Given the description of an element on the screen output the (x, y) to click on. 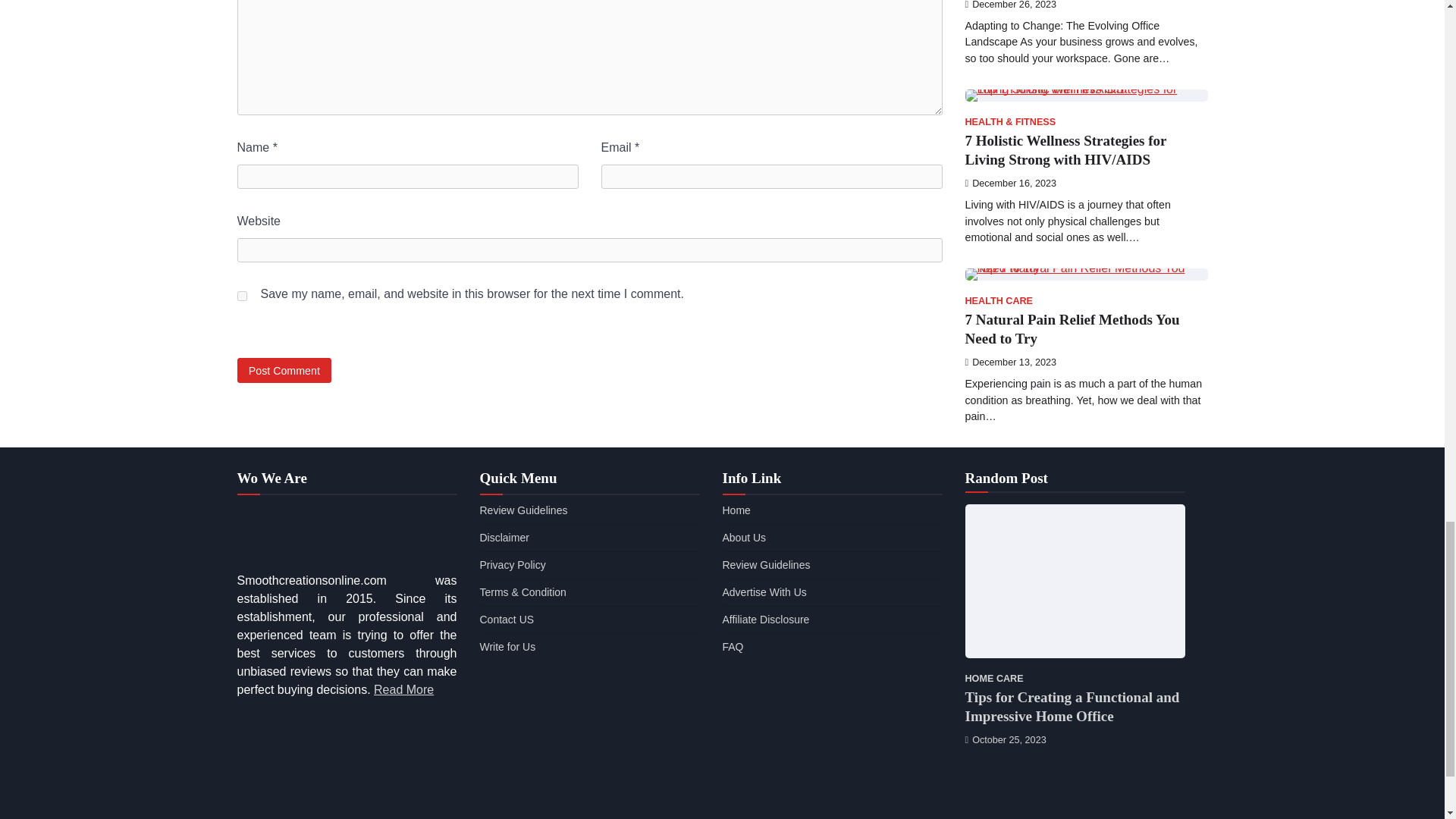
Post Comment (283, 370)
yes (240, 296)
Post Comment (283, 370)
